Given the description of an element on the screen output the (x, y) to click on. 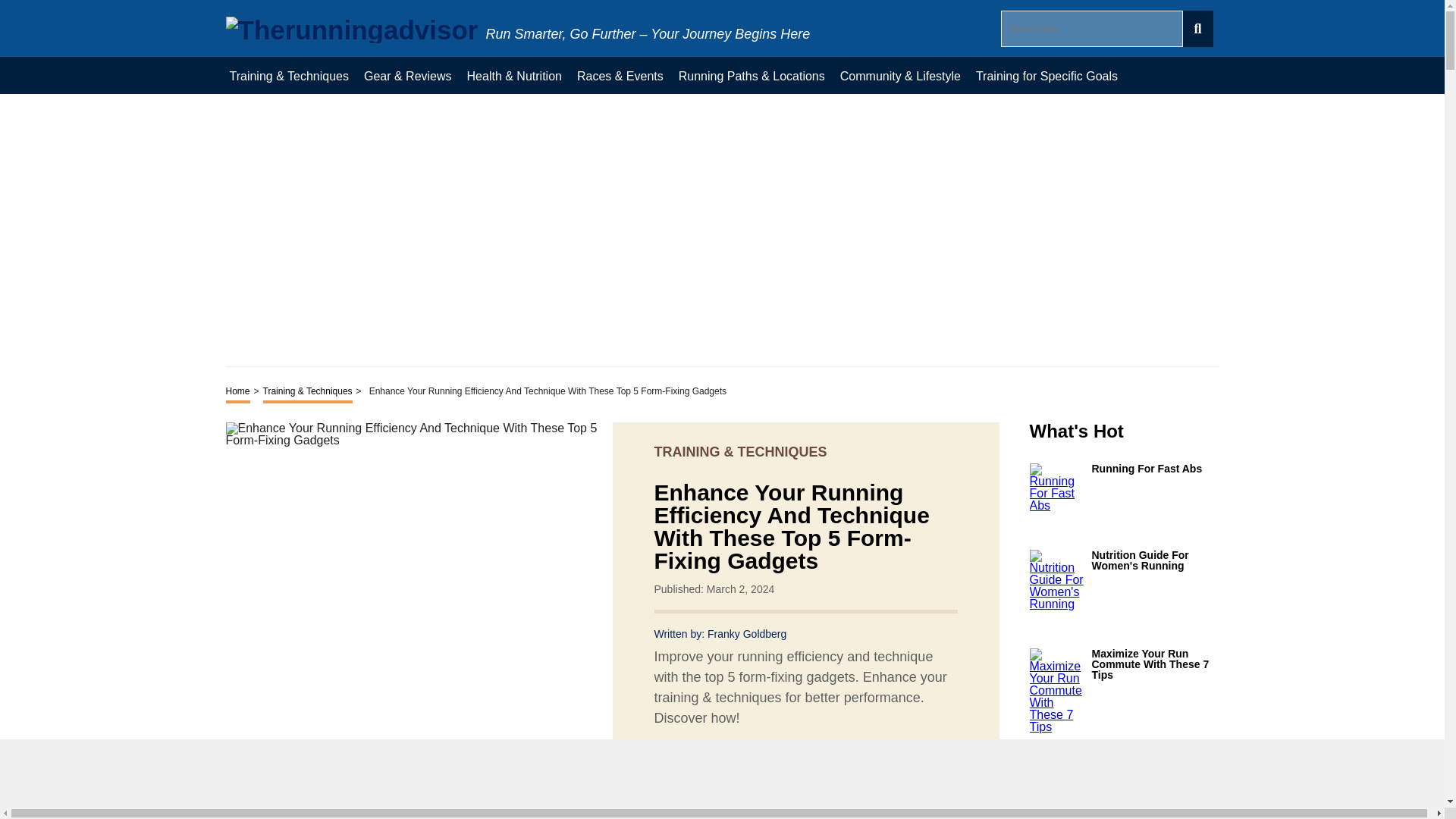
Share on Facebook (705, 771)
Share on Pinterest (759, 771)
Share on Twitter (732, 771)
Training for Specific Goals (1046, 74)
Share on WhatsApp (786, 771)
